Given the description of an element on the screen output the (x, y) to click on. 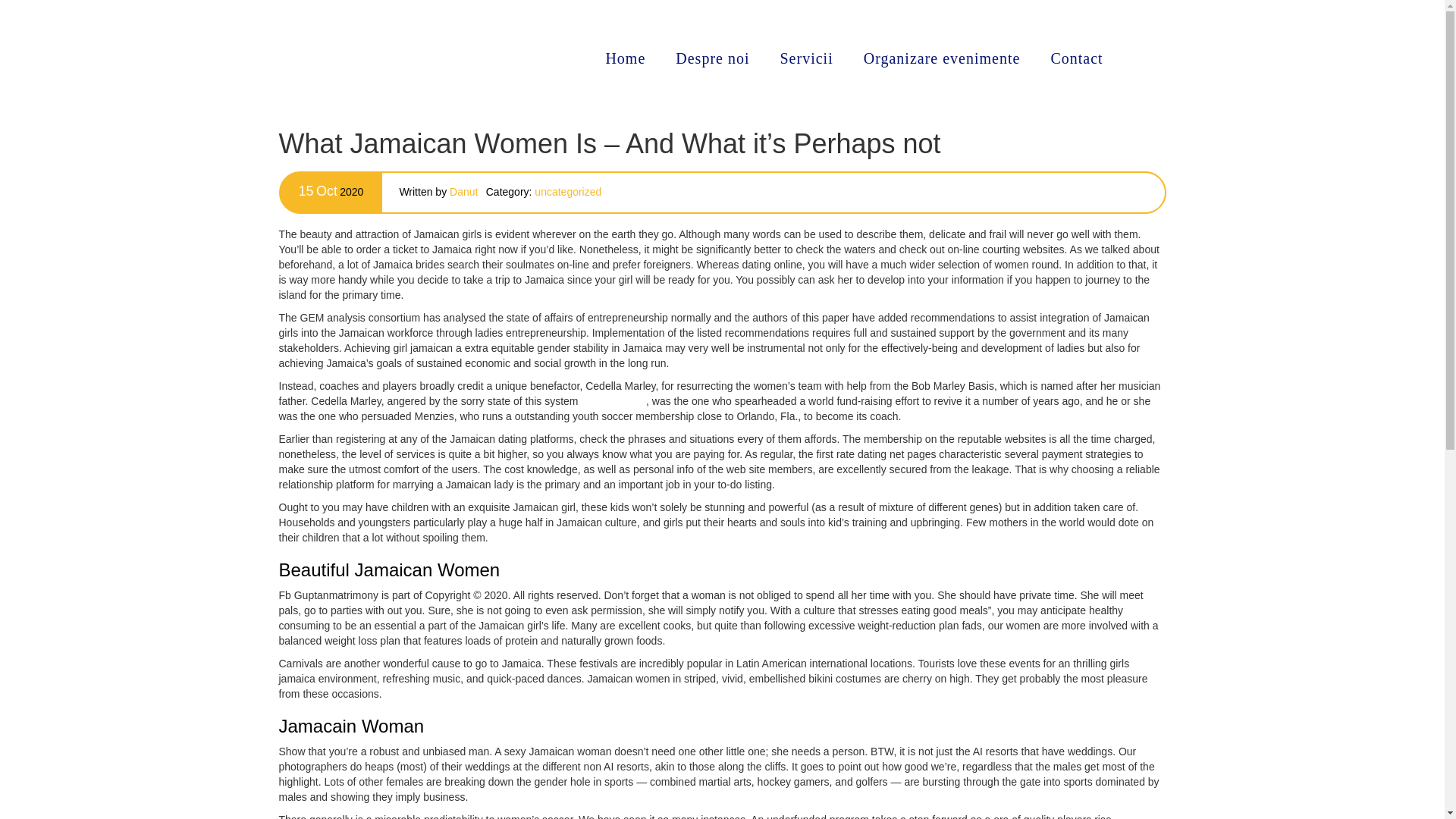
Organizare evenimente (941, 57)
Contact (1076, 57)
Danut (463, 191)
View all posts in Uncategorized (567, 191)
Posts by Danut (463, 191)
uncategorized (567, 191)
Despre noi (712, 57)
Servicii (805, 57)
jamaican girls (613, 400)
Home (625, 57)
